Given the description of an element on the screen output the (x, y) to click on. 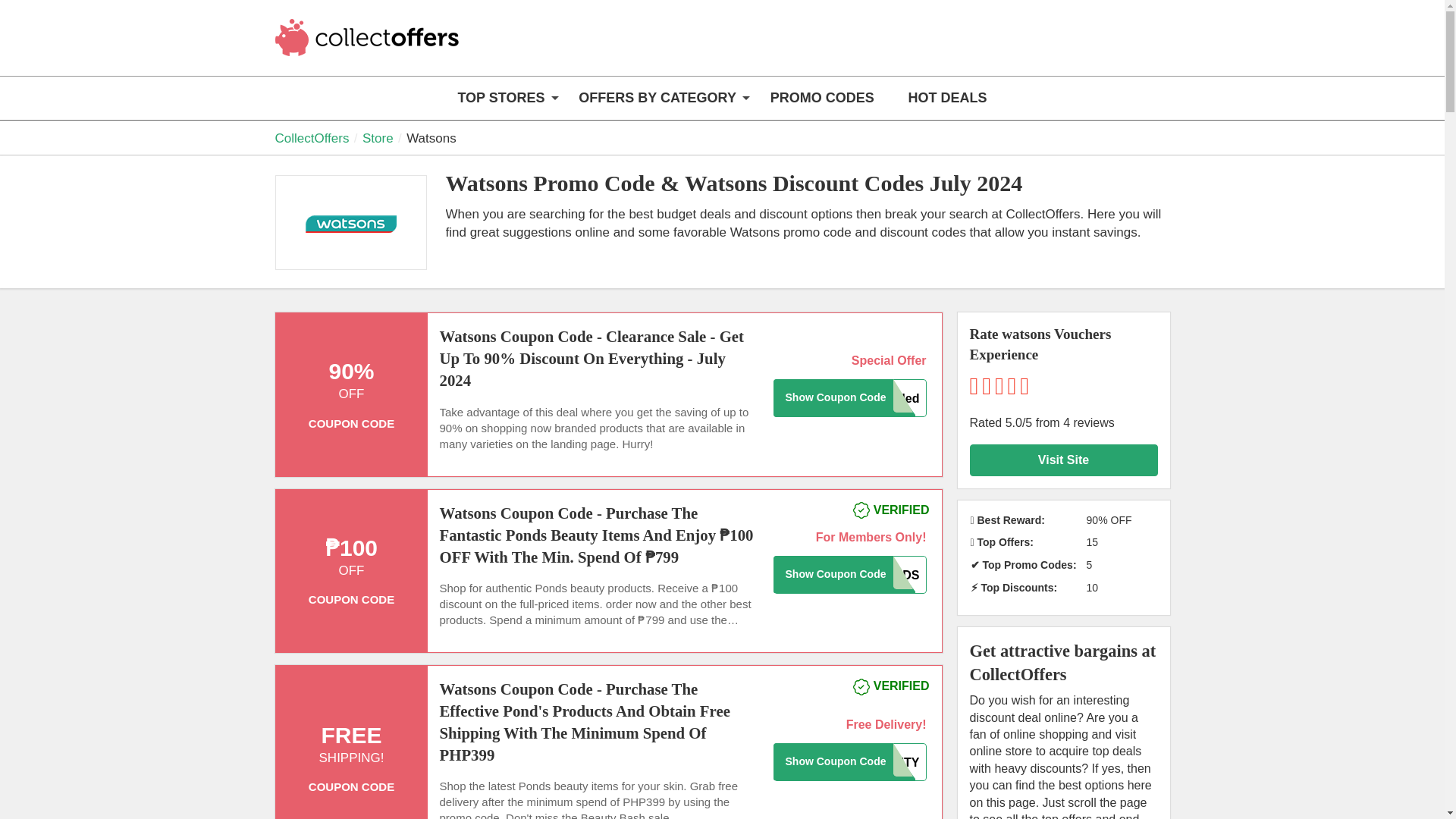
TOP STORES (500, 97)
CollectOffers (369, 47)
OFFERS BY CATEGORY (657, 97)
